Given the description of an element on the screen output the (x, y) to click on. 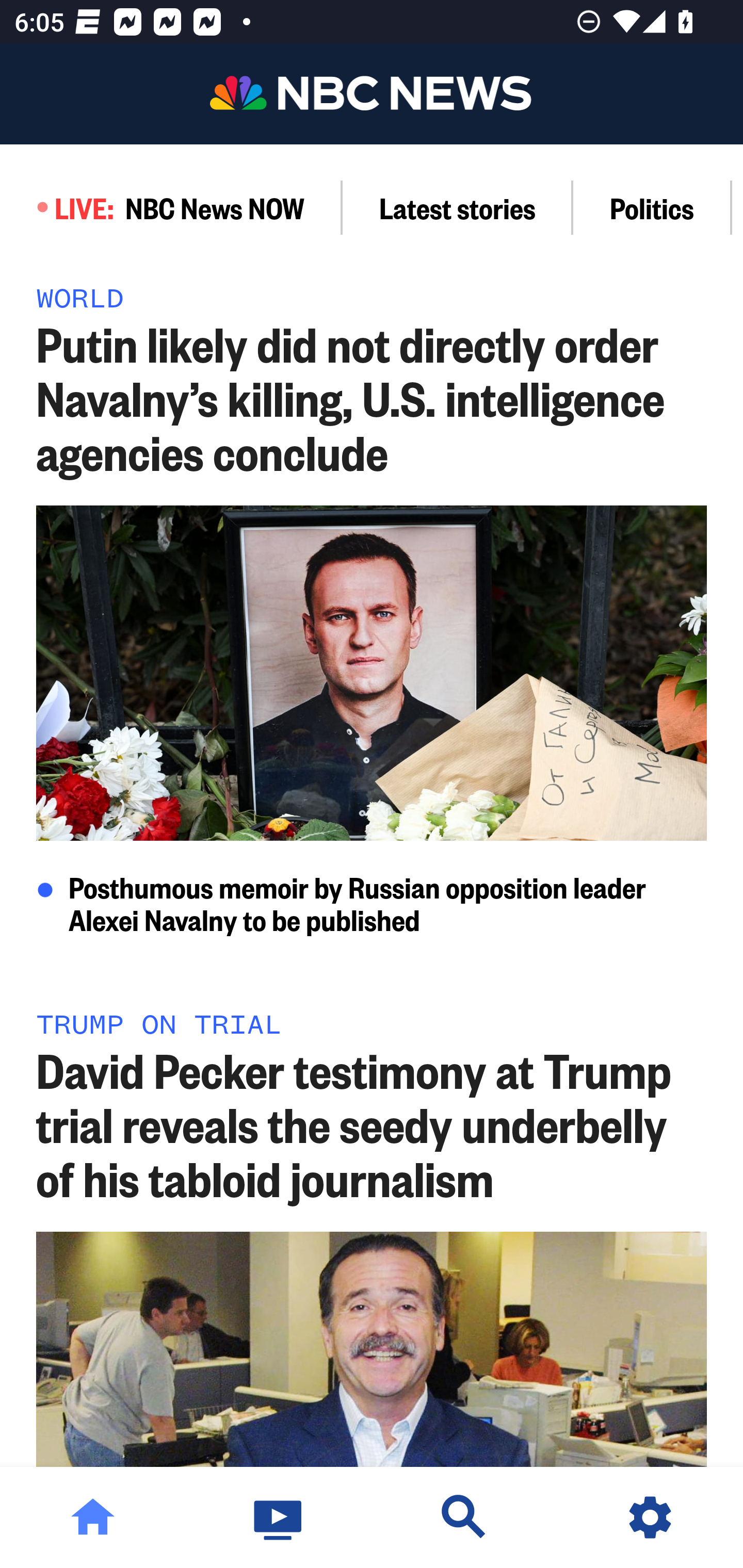
LIVE:  NBC News NOW (171, 207)
Latest stories Section,Latest stories (457, 207)
Politics Section,Politics (652, 207)
Watch (278, 1517)
Discover (464, 1517)
Settings (650, 1517)
